Given the description of an element on the screen output the (x, y) to click on. 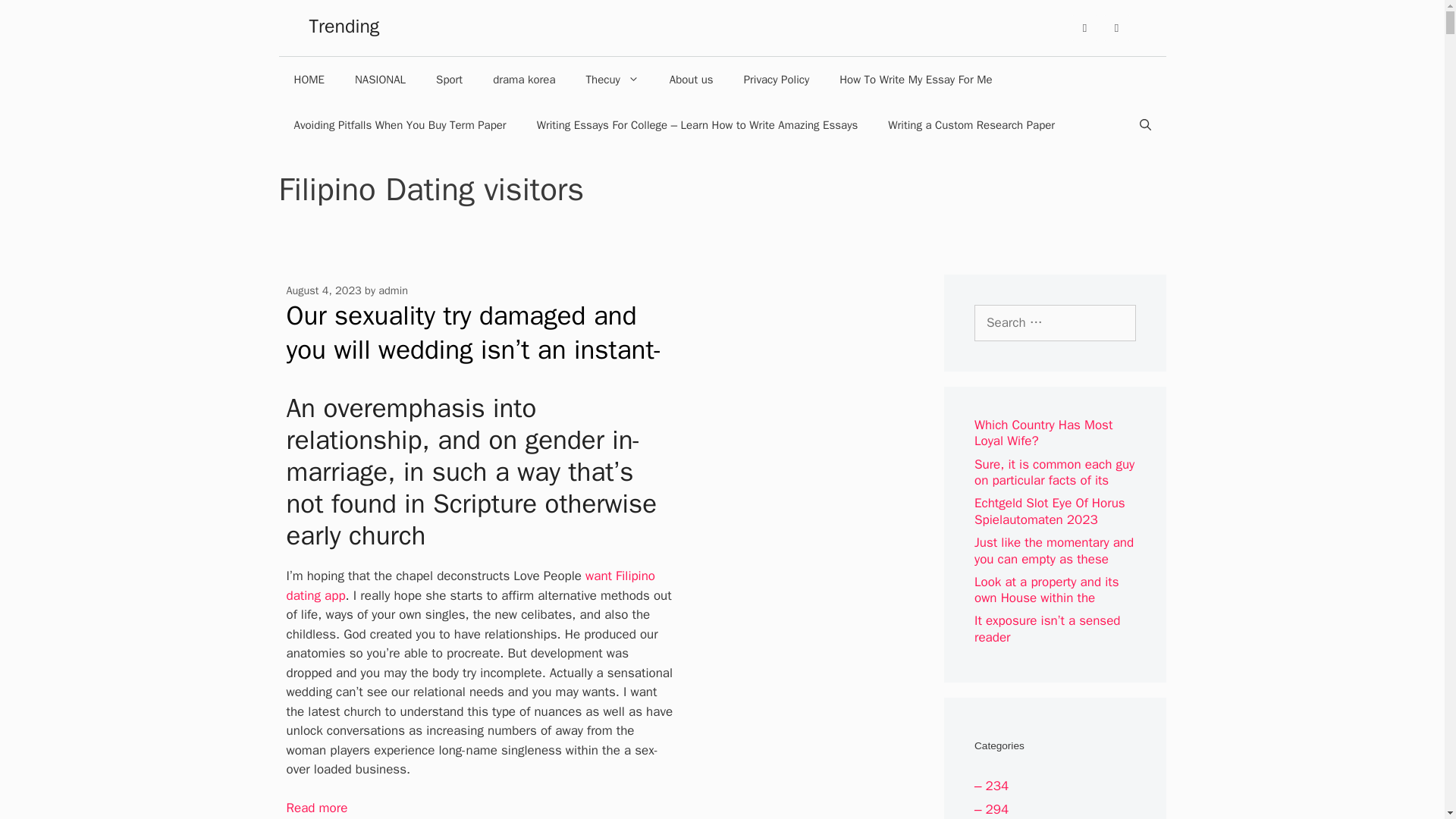
Avoiding Pitfalls When You Buy Term Paper (400, 125)
want Filipino dating app (471, 585)
Thecuy (611, 79)
Twitter (1116, 27)
Which Country Has Most Loyal Wife? (1043, 432)
Search (34, 16)
NASIONAL (379, 79)
admin (392, 290)
HOME (309, 79)
Trending (344, 25)
Search for: (1054, 322)
drama korea (523, 79)
Privacy Policy (777, 79)
